Given the description of an element on the screen output the (x, y) to click on. 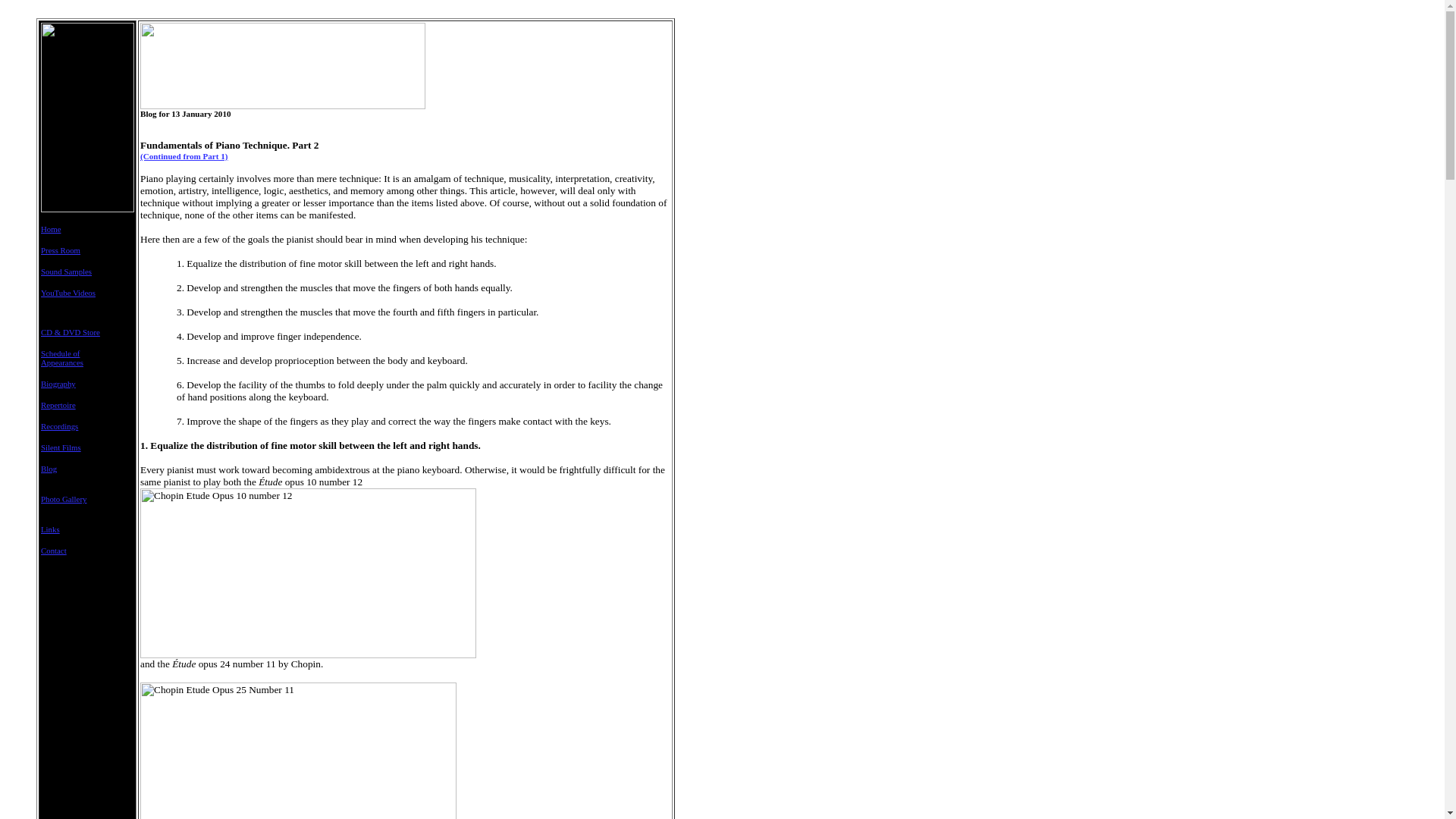
YouTube Videos (68, 292)
Press Room (60, 249)
Sound Samples (65, 271)
Schedule of (60, 352)
Biography (57, 383)
Links (49, 528)
Photo Gallery (62, 498)
Home (50, 228)
Silent Films (60, 447)
Appearances (61, 361)
Contact (53, 550)
Blog (48, 468)
Repertoire (57, 404)
Recordings (59, 425)
